Given the description of an element on the screen output the (x, y) to click on. 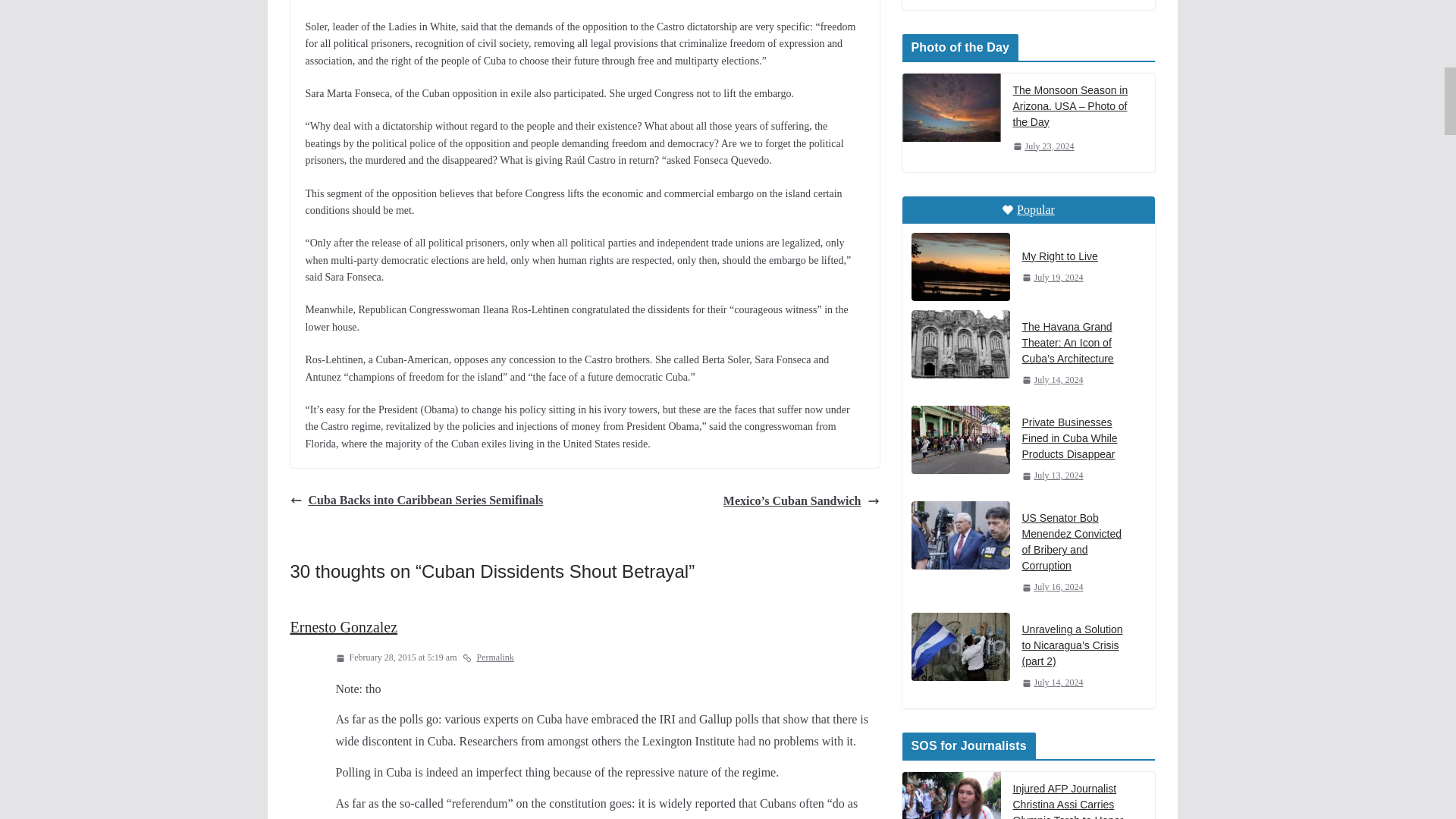
Cuba Backs into Caribbean Series Semifinals (416, 500)
Ernesto Gonzalez (343, 626)
Permalink (488, 658)
